Given the description of an element on the screen output the (x, y) to click on. 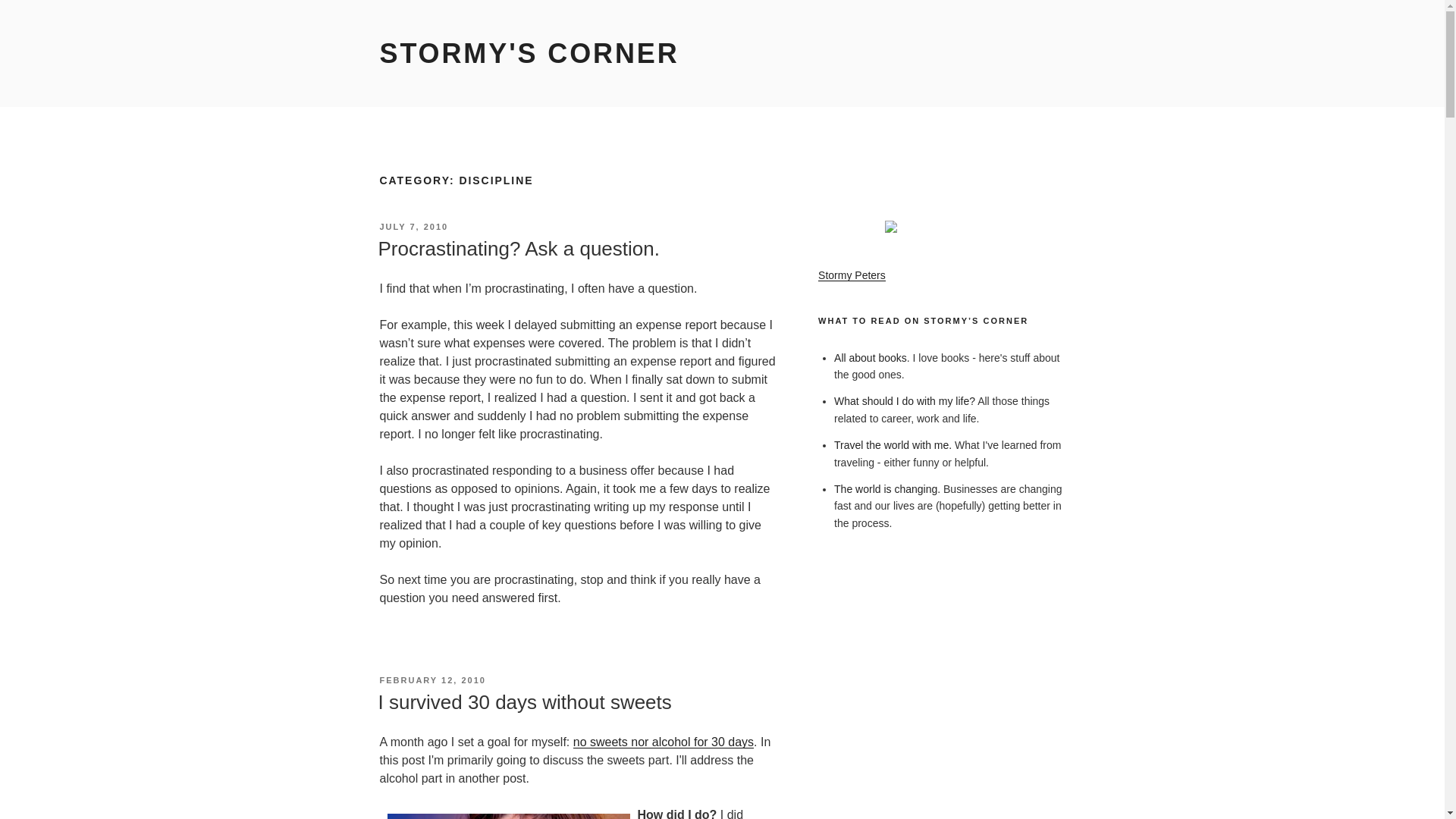
Travel the world with me. (893, 444)
All about books (870, 357)
FEBRUARY 12, 2010 (431, 679)
What should I do with my life? (904, 400)
Procrastinating? Ask a question. (518, 248)
no sweets nor alcohol for 30 days (663, 741)
JULY 7, 2010 (413, 225)
The world is changing. (887, 489)
STORMY'S CORNER (528, 52)
Stormy Peters (851, 275)
